Given the description of an element on the screen output the (x, y) to click on. 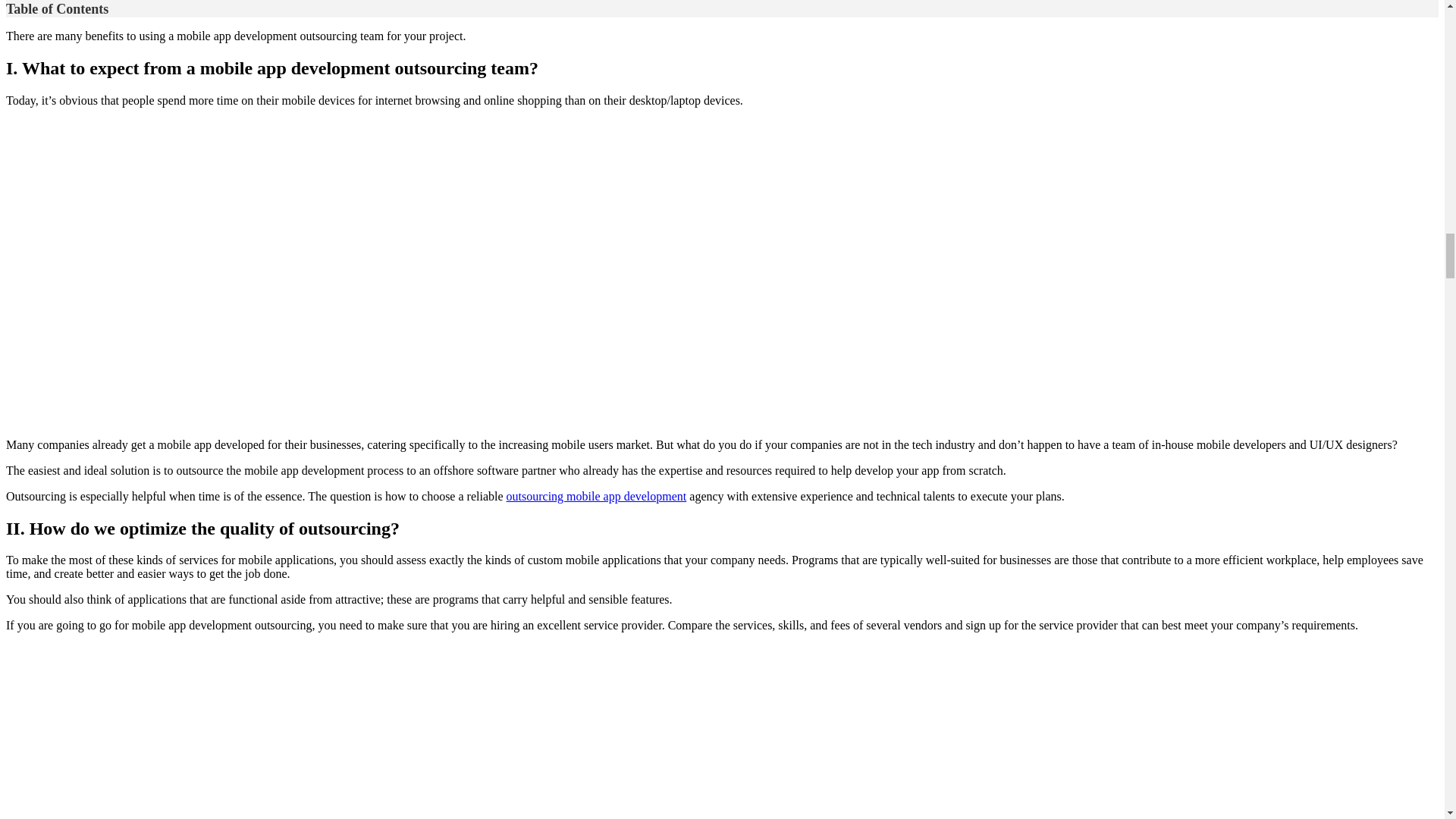
mobile app development (596, 495)
